Given the description of an element on the screen output the (x, y) to click on. 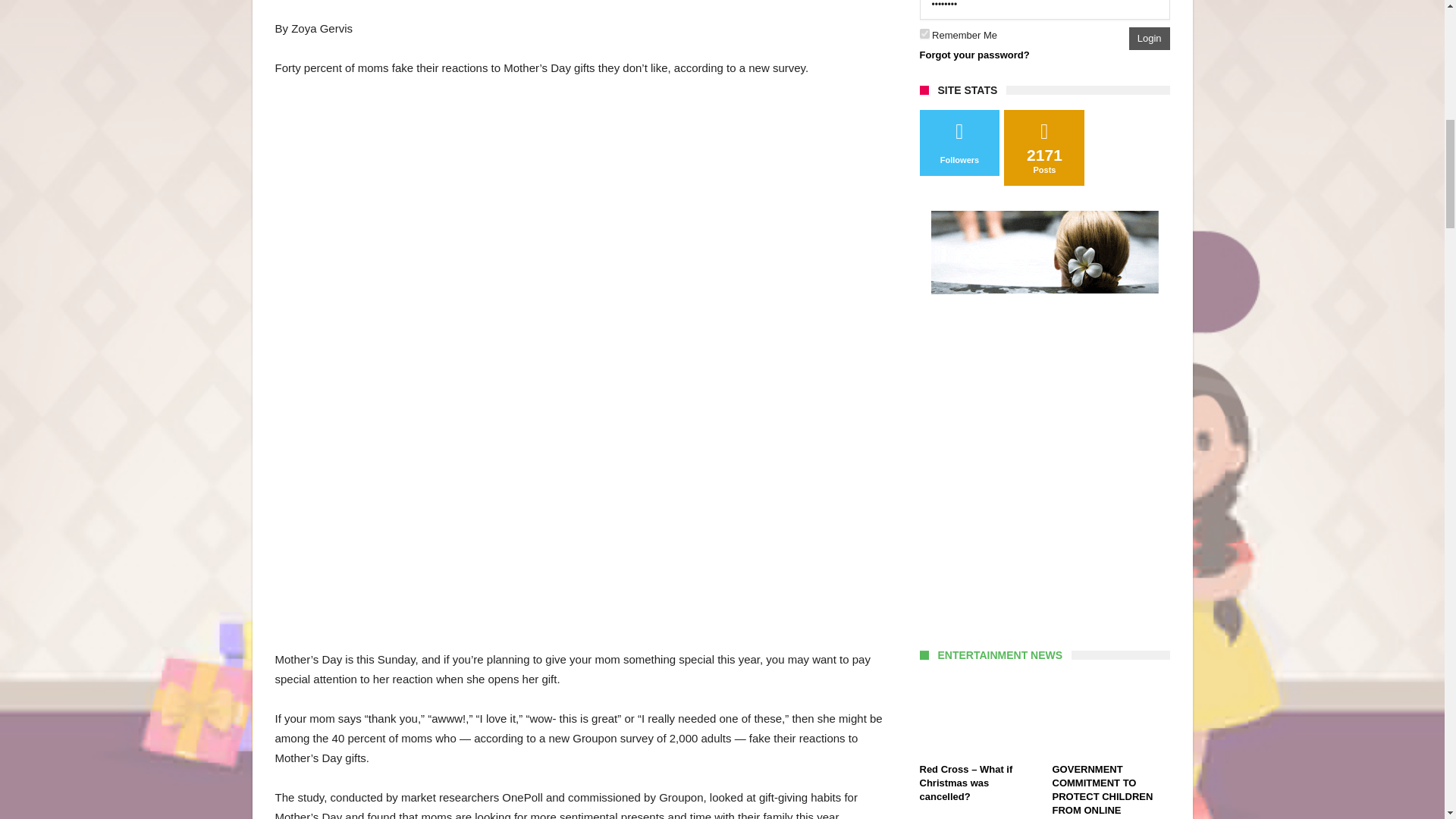
forever (923, 33)
Password (1043, 9)
